Given the description of an element on the screen output the (x, y) to click on. 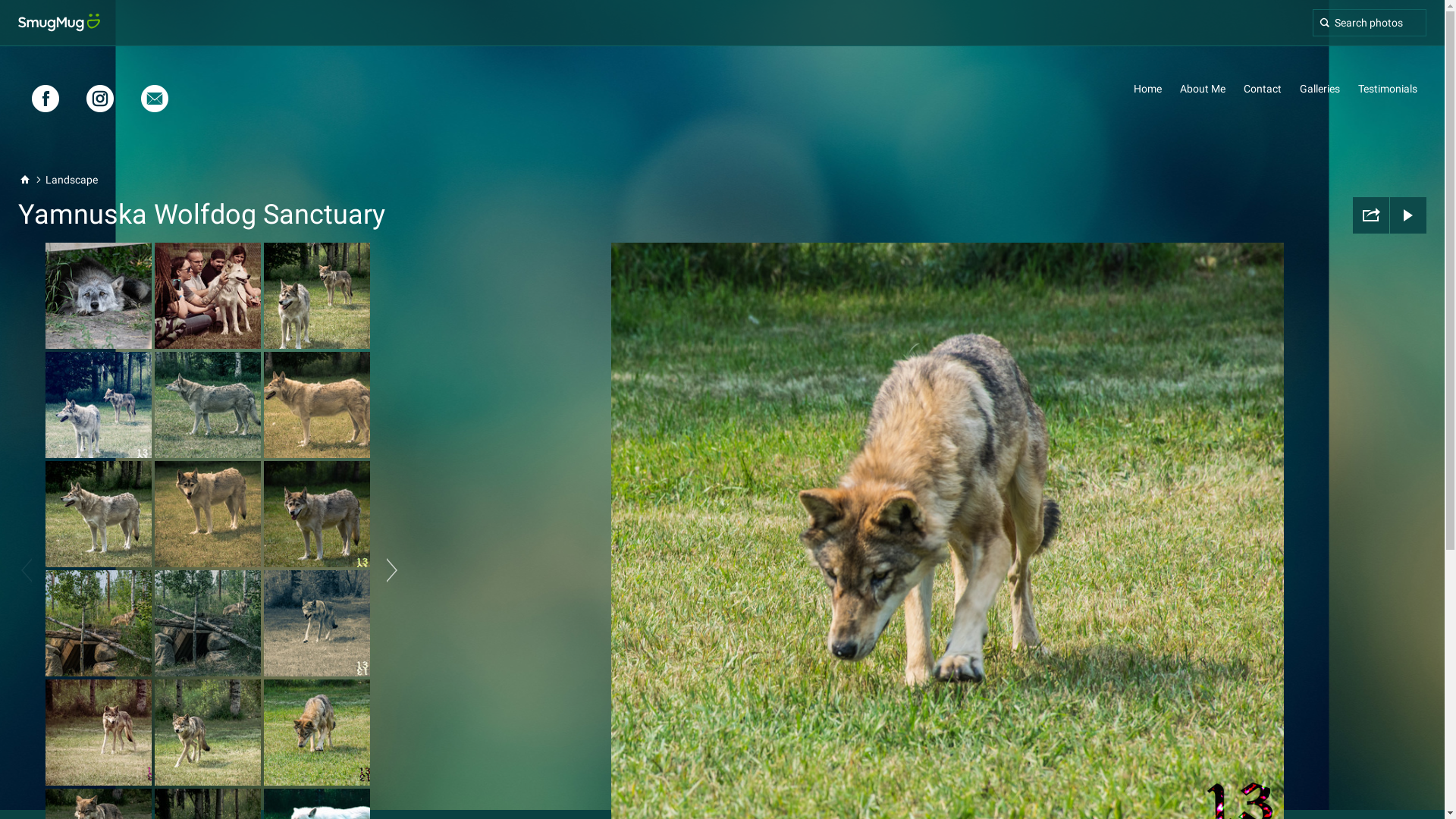
Testimonials Element type: text (1387, 88)
Contact Element type: text (1262, 88)
Landscape Element type: text (71, 179)
About Me Element type: text (1202, 88)
Slideshow Element type: hover (1408, 215)
SmugMug Element type: hover (59, 22)
Share Gallery Element type: hover (1370, 215)
Search "Yamnuska Wolfdog Sanctuary" for photos Element type: hover (1369, 22)
Home Element type: text (1147, 88)
Galleries Element type: text (1319, 88)
